Given the description of an element on the screen output the (x, y) to click on. 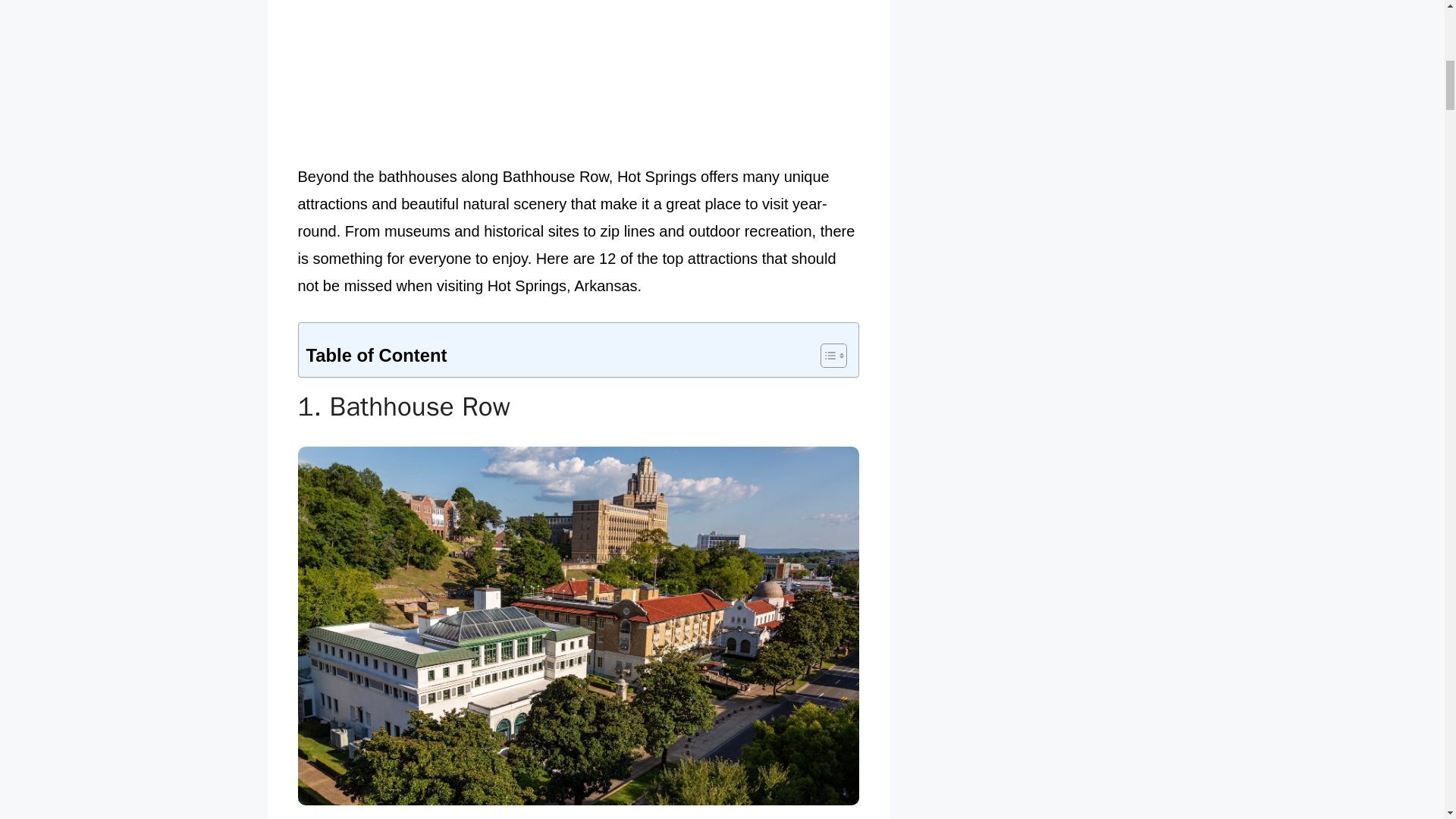
Advertisement (578, 78)
